Given the description of an element on the screen output the (x, y) to click on. 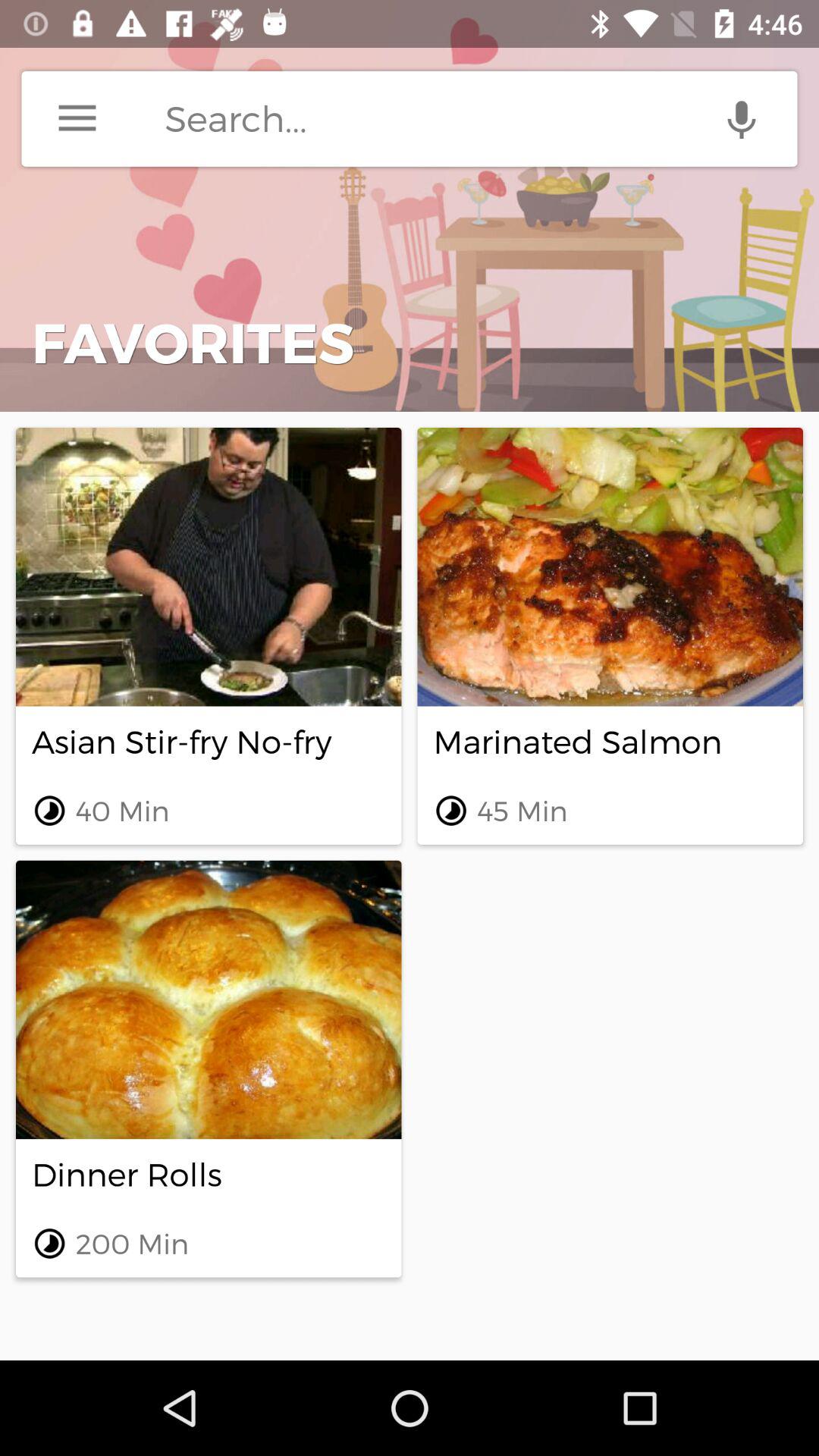
main menu (77, 118)
